Given the description of an element on the screen output the (x, y) to click on. 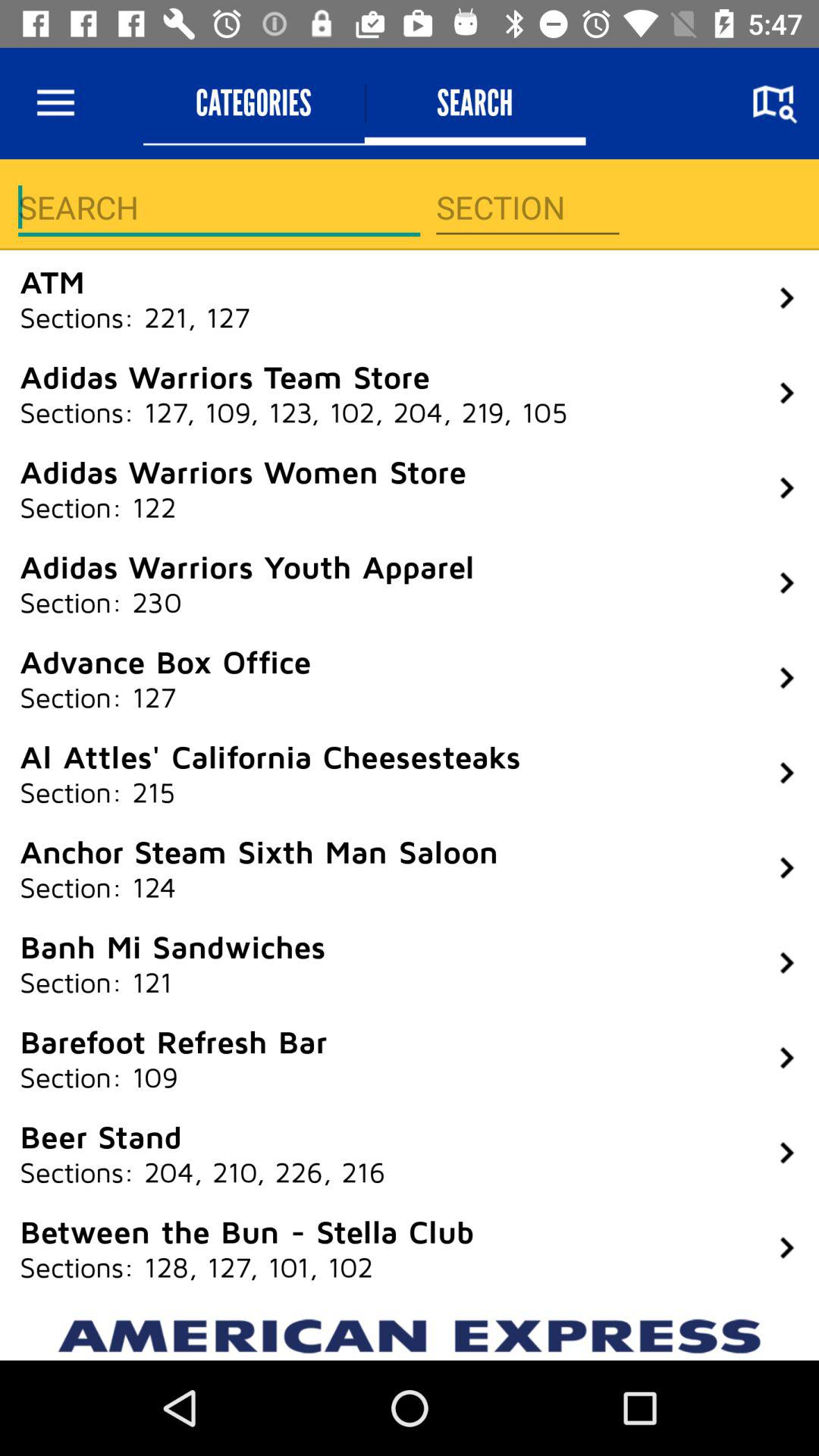
click on the search icon (774, 103)
